Given the description of an element on the screen output the (x, y) to click on. 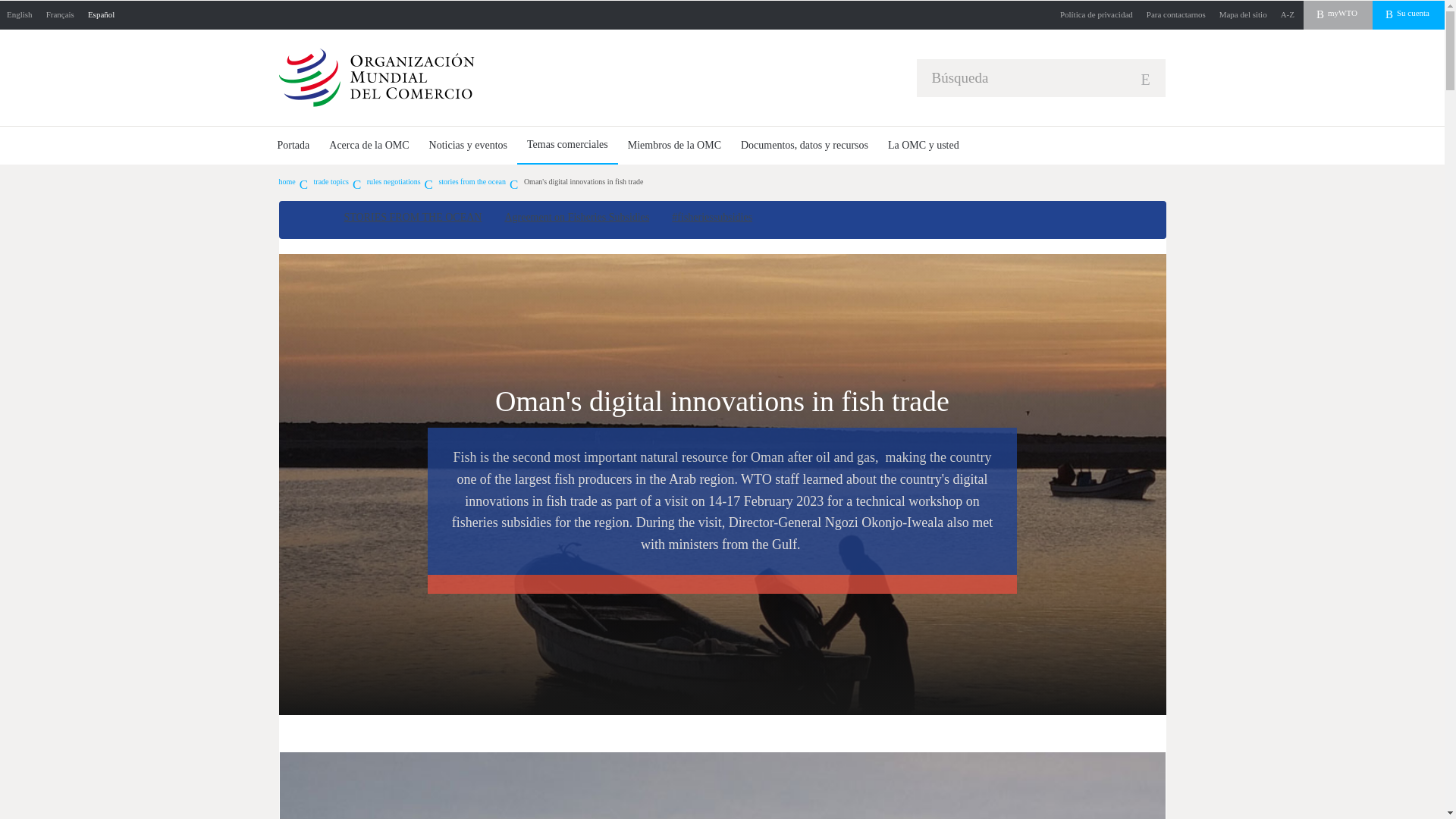
Para contactarnos (1176, 14)
STORIES FROM THE OCEAN (412, 216)
Mapa del sitio (1243, 14)
Acerca de la OMC (368, 145)
A-Z (1288, 14)
myWTO (1338, 14)
Portada (292, 145)
Agreement on Fisheries Subsidies (577, 216)
English (19, 14)
